Given the description of an element on the screen output the (x, y) to click on. 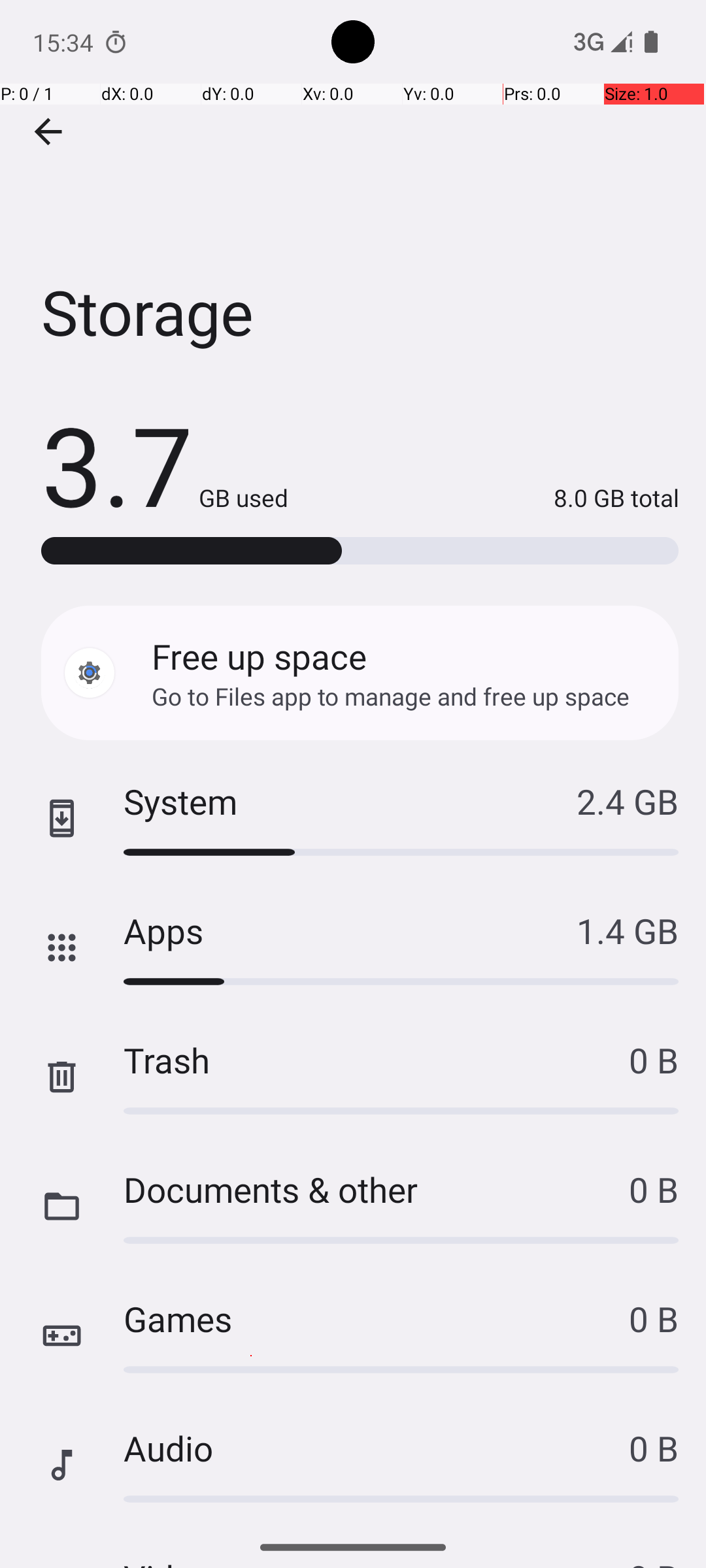
3.7 GB used Element type: android.widget.TextView (164, 463)
2.4 GB Element type: android.widget.TextView (627, 801)
